Given the description of an element on the screen output the (x, y) to click on. 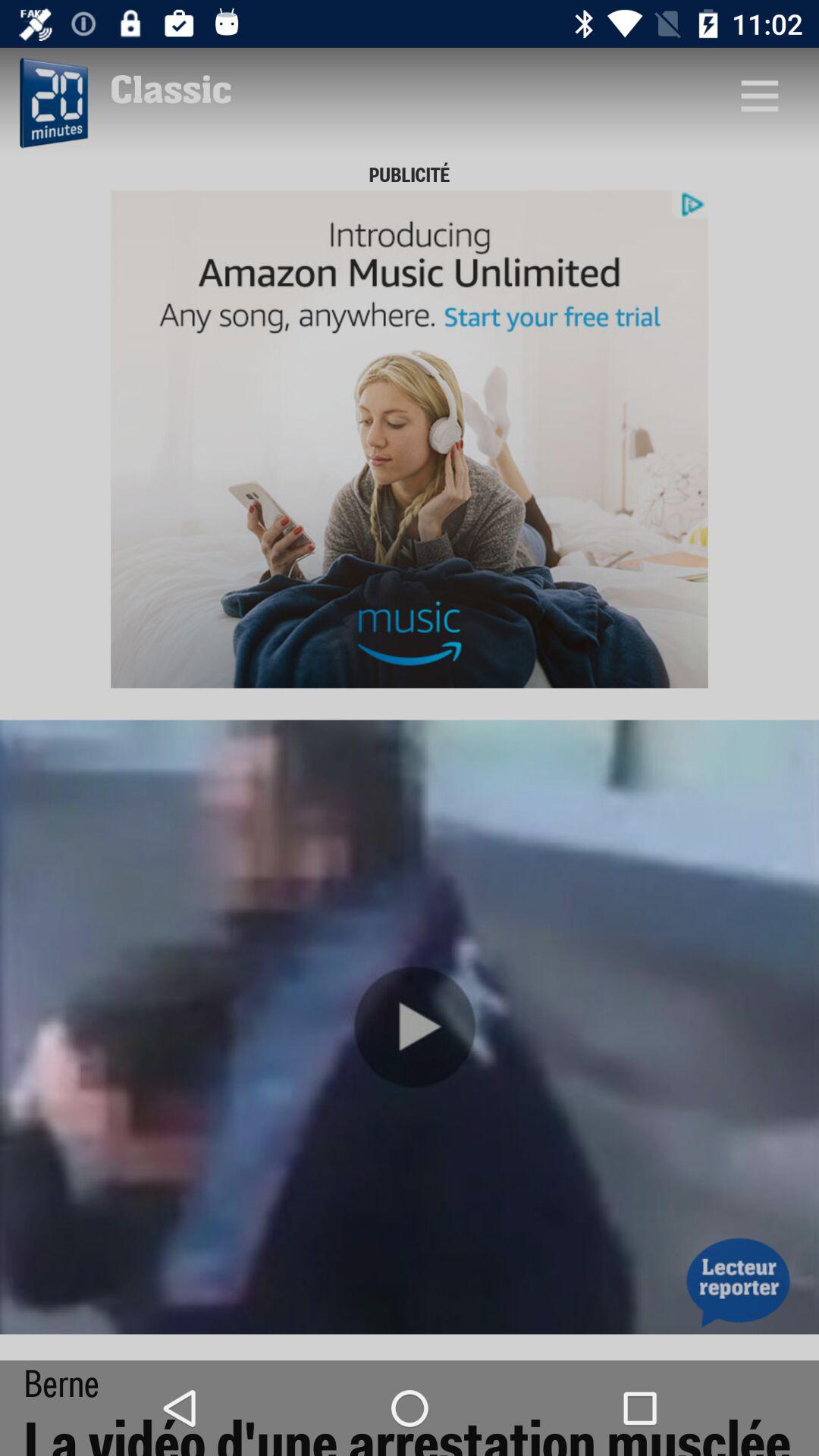
go to time (52, 103)
